Given the description of an element on the screen output the (x, y) to click on. 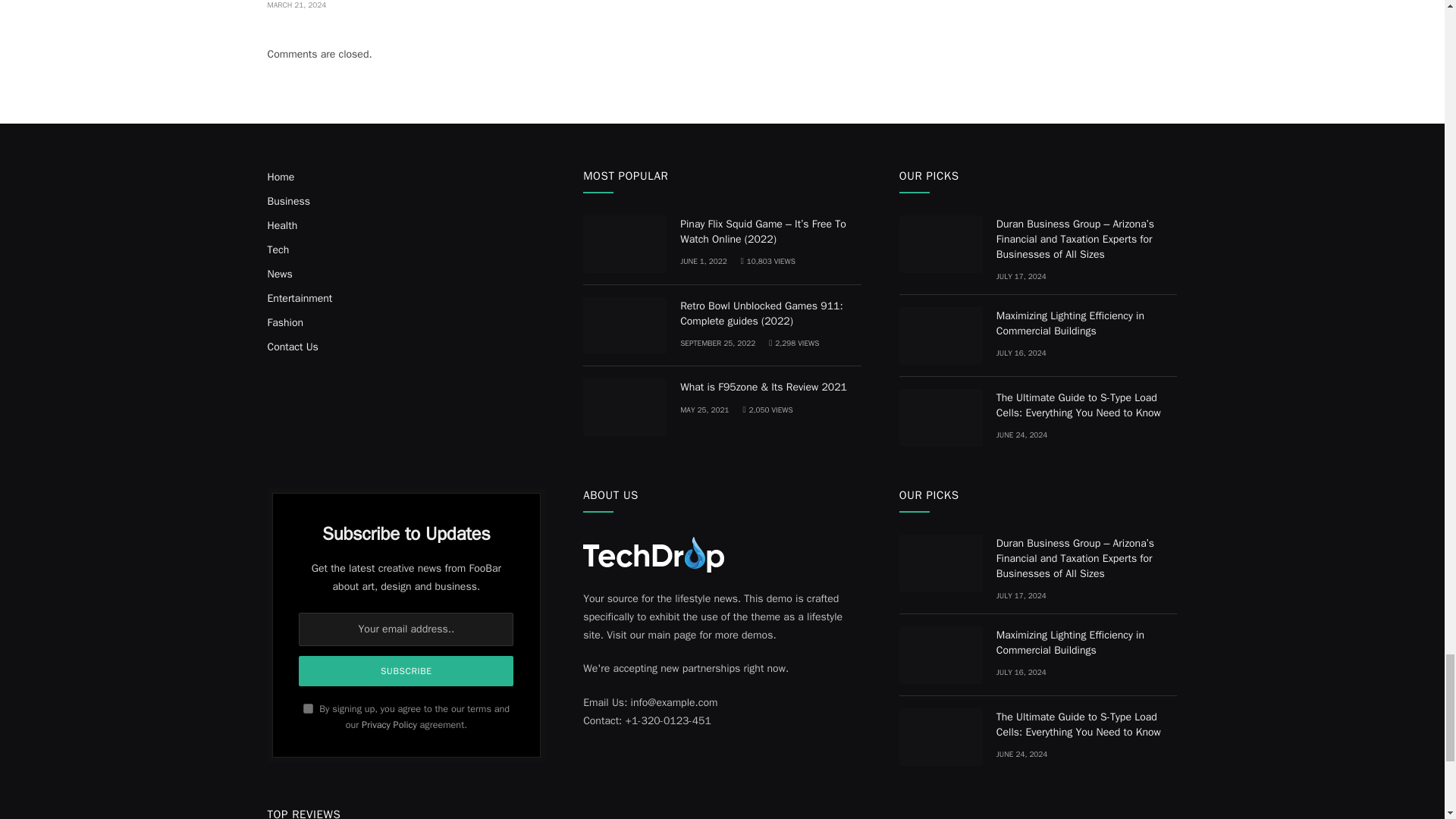
Subscribe (405, 671)
on (307, 708)
